Given the description of an element on the screen output the (x, y) to click on. 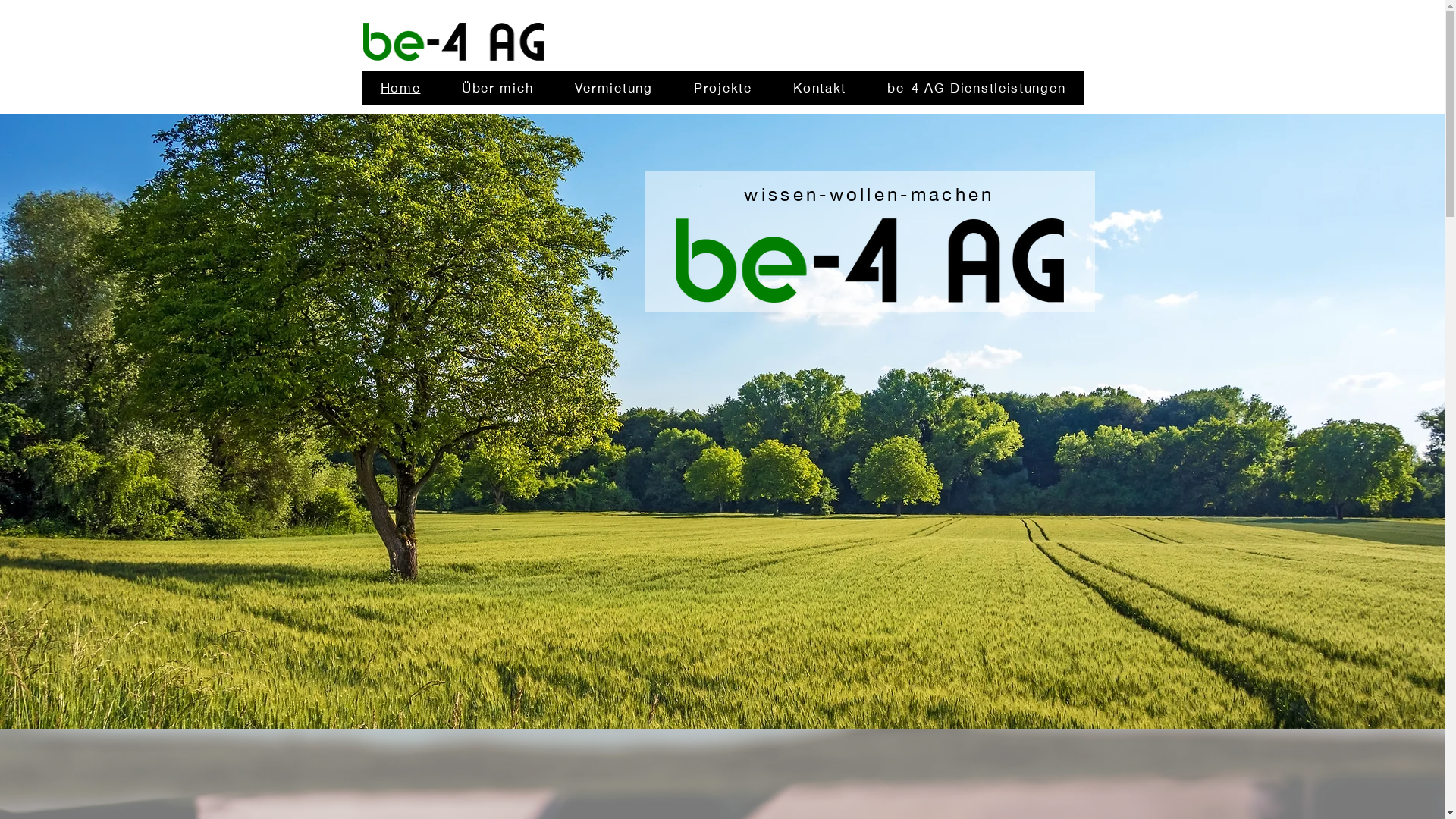
Kontakt Element type: text (819, 87)
Home Element type: text (399, 87)
Vermietung Element type: text (612, 87)
Projekte Element type: text (722, 87)
